Given the description of an element on the screen output the (x, y) to click on. 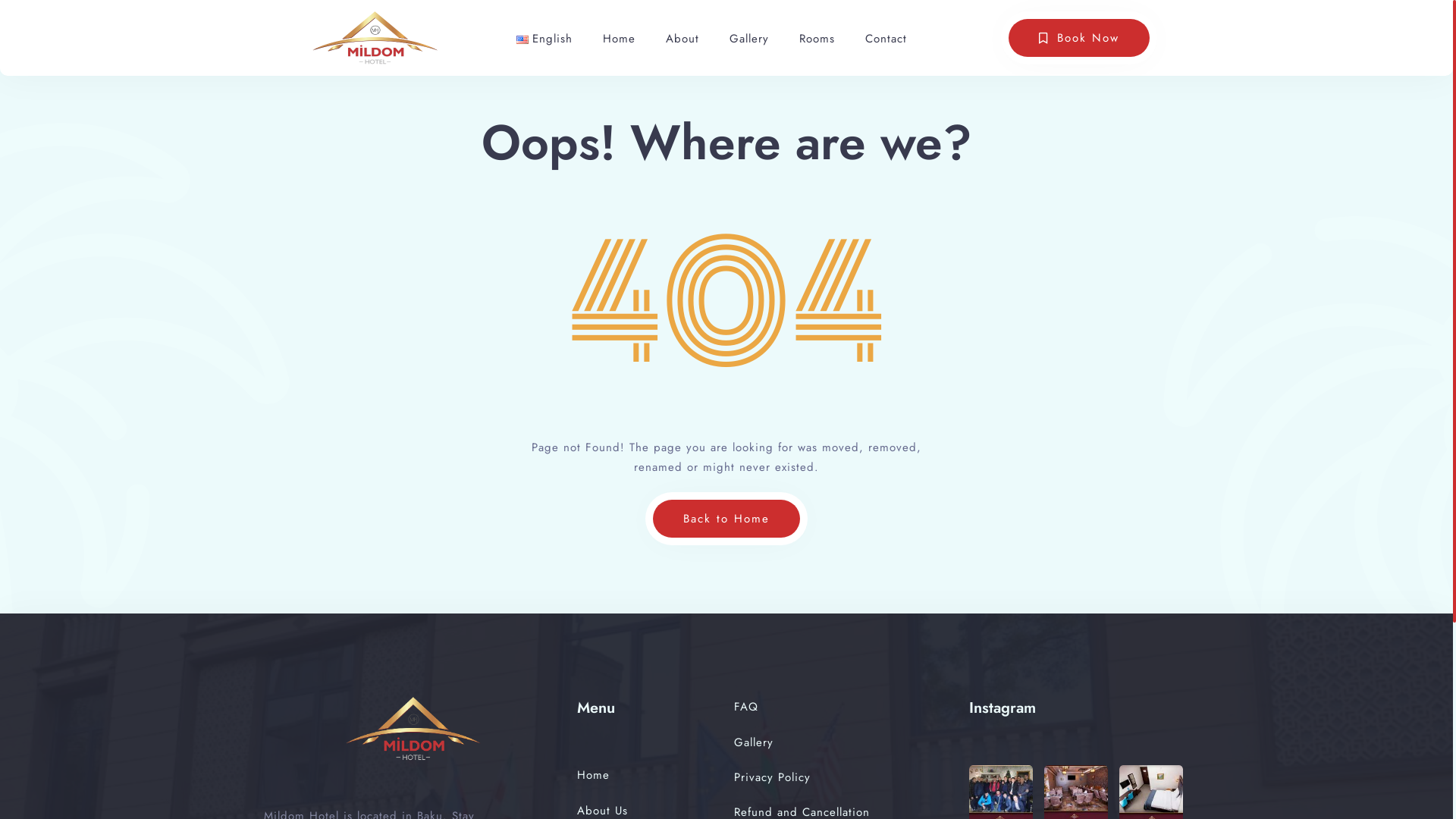
Privacy Policy Element type: text (772, 776)
Rooms Element type: text (817, 37)
English Element type: text (544, 37)
Gallery Element type: text (753, 742)
Contact Element type: text (886, 37)
About Element type: text (682, 37)
Book Now Element type: text (1078, 37)
Home Element type: text (593, 774)
FAQ Element type: text (746, 706)
Gallery Element type: text (749, 37)
Home Element type: text (618, 37)
Back to Home Element type: text (726, 518)
